Given the description of an element on the screen output the (x, y) to click on. 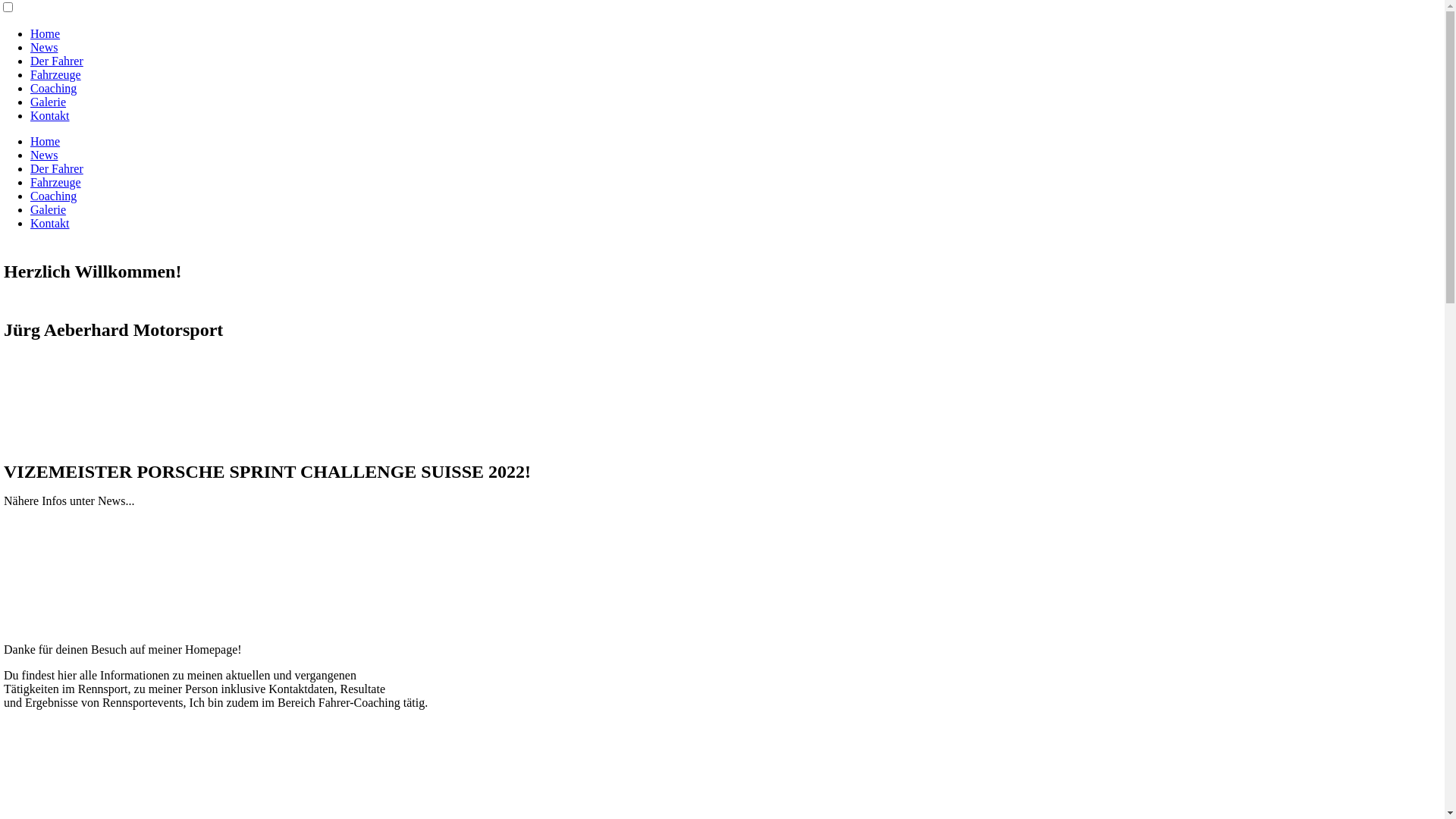
Fahrzeuge Element type: text (55, 181)
Kontakt Element type: text (49, 115)
Coaching Element type: text (53, 87)
Kontakt Element type: text (49, 222)
Der Fahrer Element type: text (56, 168)
Home Element type: text (44, 33)
Fahrzeuge Element type: text (55, 74)
Galerie Element type: text (47, 209)
Der Fahrer Element type: text (56, 60)
Coaching Element type: text (53, 195)
News Element type: text (43, 154)
Galerie Element type: text (47, 101)
News Element type: text (43, 46)
Home Element type: text (44, 140)
